Given the description of an element on the screen output the (x, y) to click on. 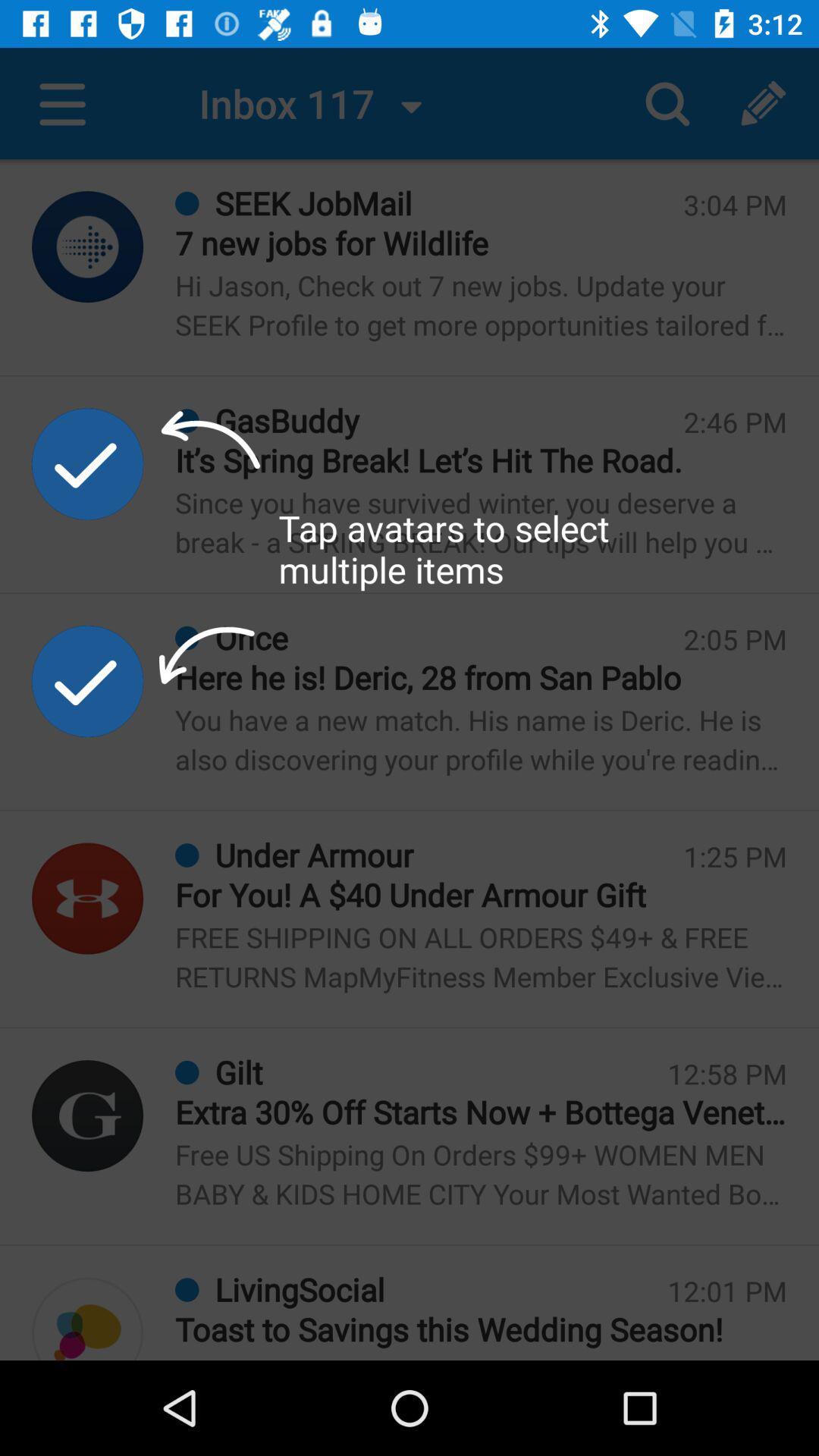
select item (87, 681)
